Given the description of an element on the screen output the (x, y) to click on. 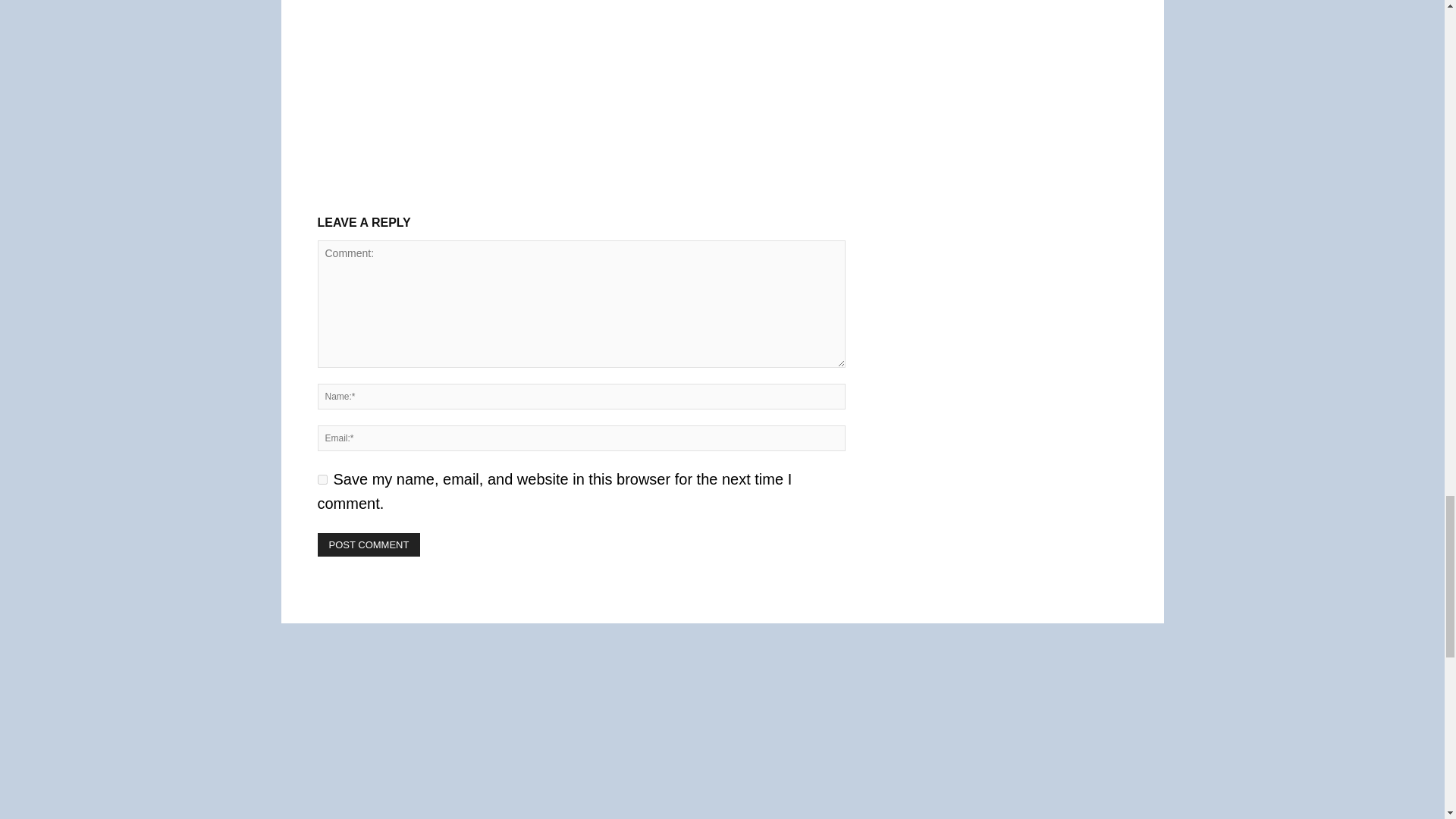
yes (321, 479)
Post Comment (368, 544)
